Given the description of an element on the screen output the (x, y) to click on. 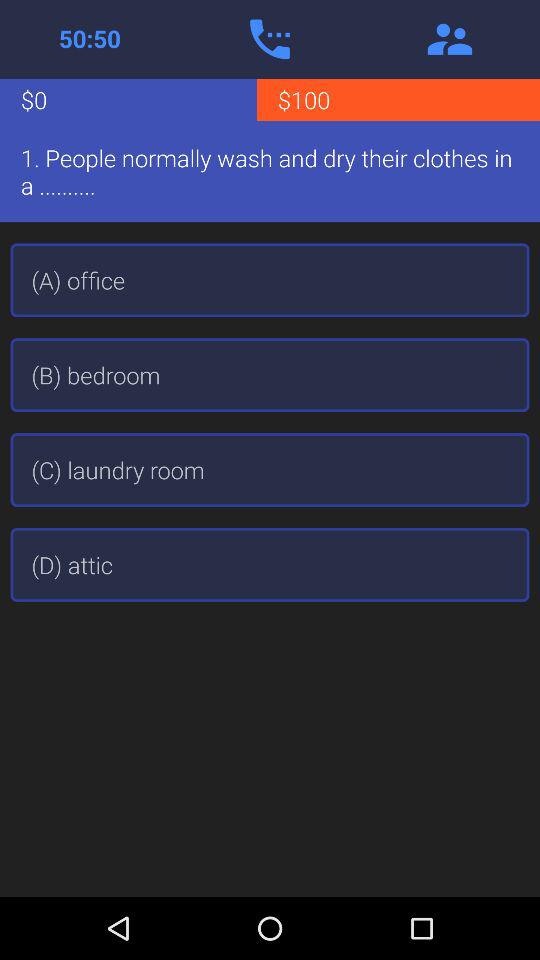
launch the item above the $100 (450, 39)
